Given the description of an element on the screen output the (x, y) to click on. 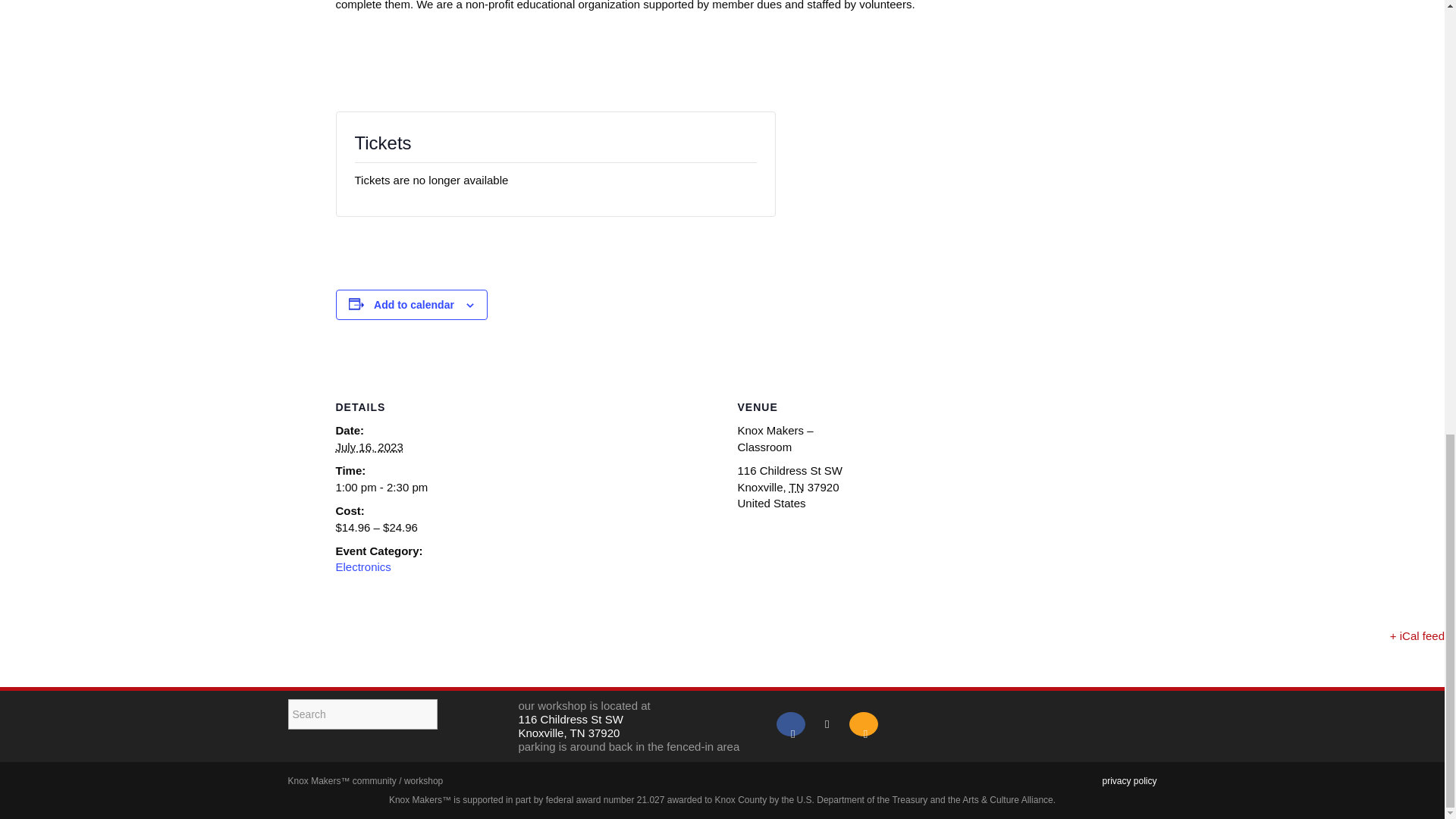
2023-07-16 (398, 487)
Tennessee (797, 486)
privacy policy (1129, 780)
2023-07-16 (368, 446)
Electronics (362, 566)
Add to calendar (414, 304)
